Given the description of an element on the screen output the (x, y) to click on. 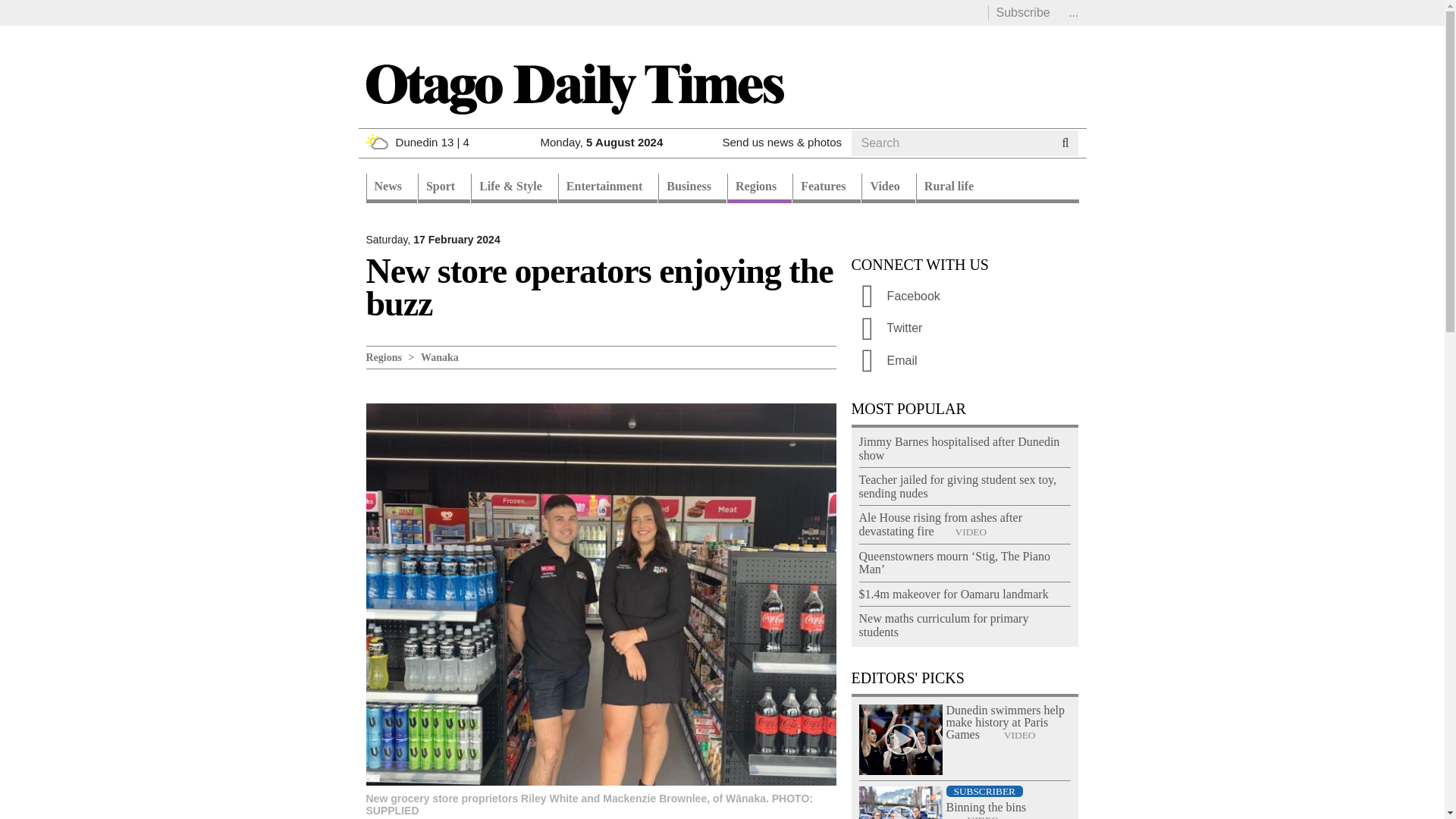
News (390, 188)
Subscribe (1022, 11)
Sport (443, 188)
Enter the terms you wish to search for. (951, 143)
Search (879, 161)
Home (574, 87)
Partly cloudy (376, 141)
